Given the description of an element on the screen output the (x, y) to click on. 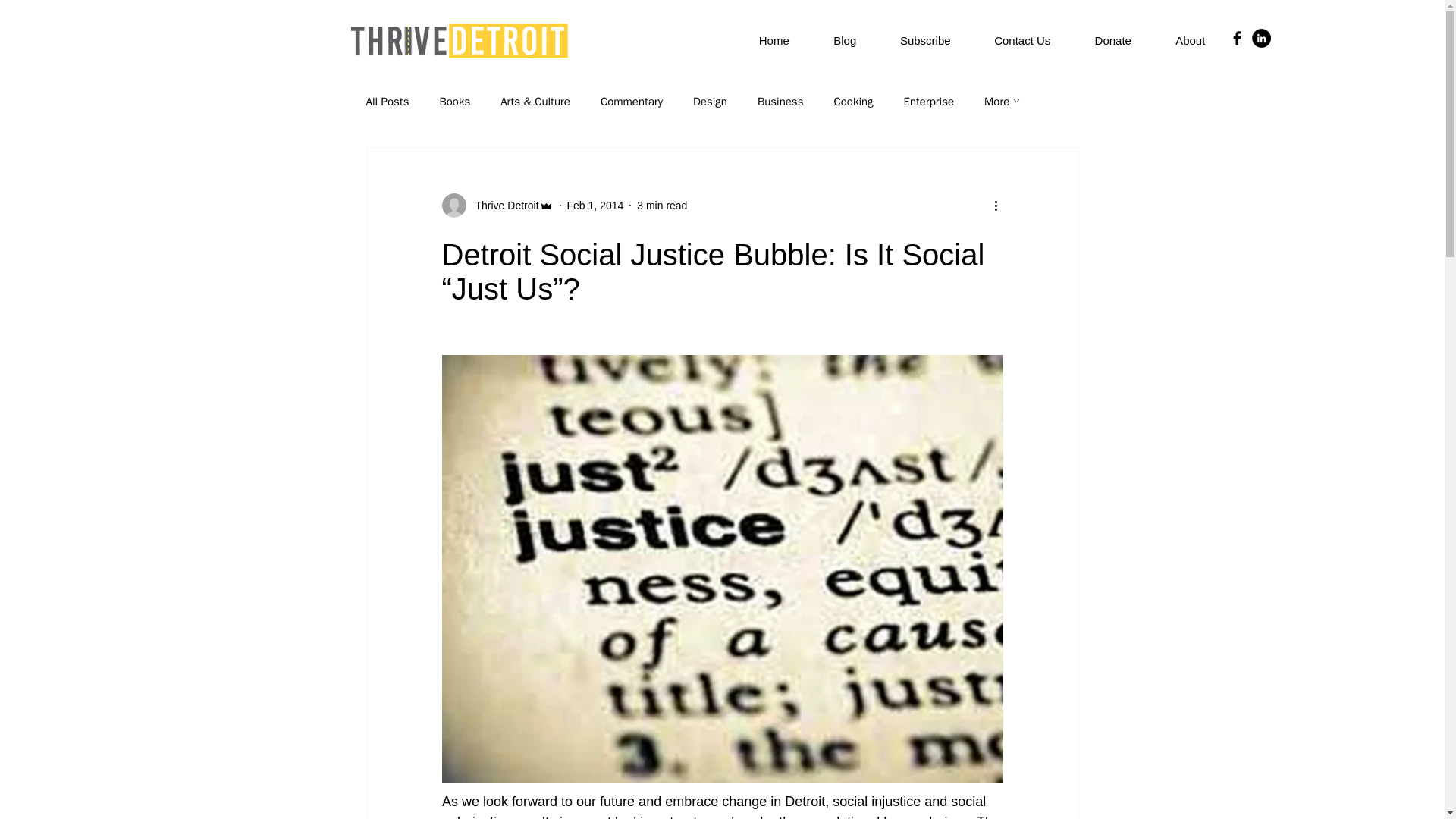
Contact Us (1021, 40)
Blog (843, 40)
Donate (1112, 40)
Cooking (852, 101)
Subscribe (924, 40)
Feb 1, 2014 (595, 204)
Business (780, 101)
Design (709, 101)
All Posts (387, 101)
Home (773, 40)
